Given the description of an element on the screen output the (x, y) to click on. 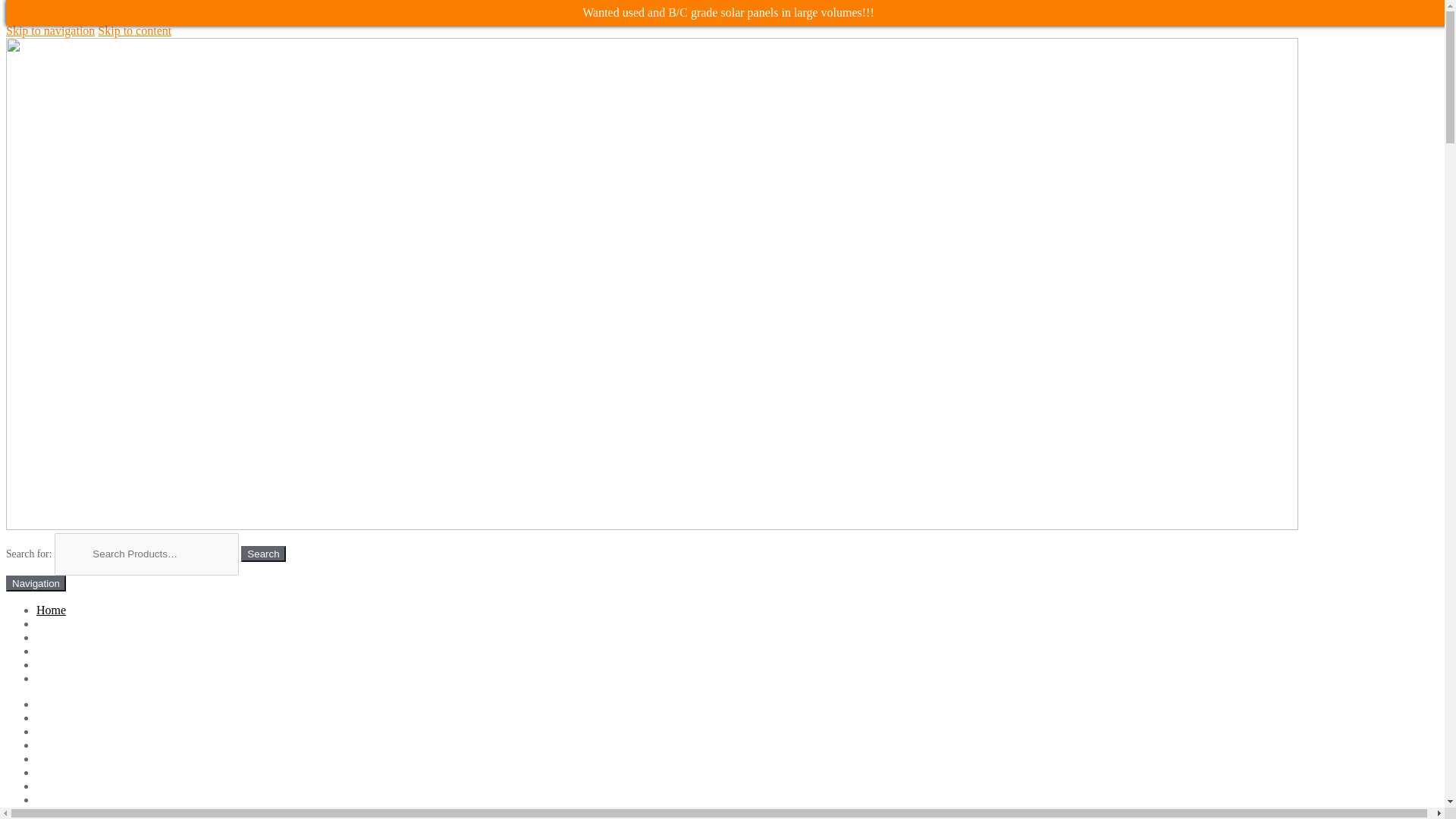
My Account (66, 799)
Basket (52, 730)
Checkout (59, 744)
Home (50, 609)
Shop (48, 812)
Contact us (61, 758)
Testimonials (67, 664)
Contact us (61, 677)
Mis-sold Solar Panels (89, 785)
Mis-sold Solar Panels (89, 650)
